Given the description of an element on the screen output the (x, y) to click on. 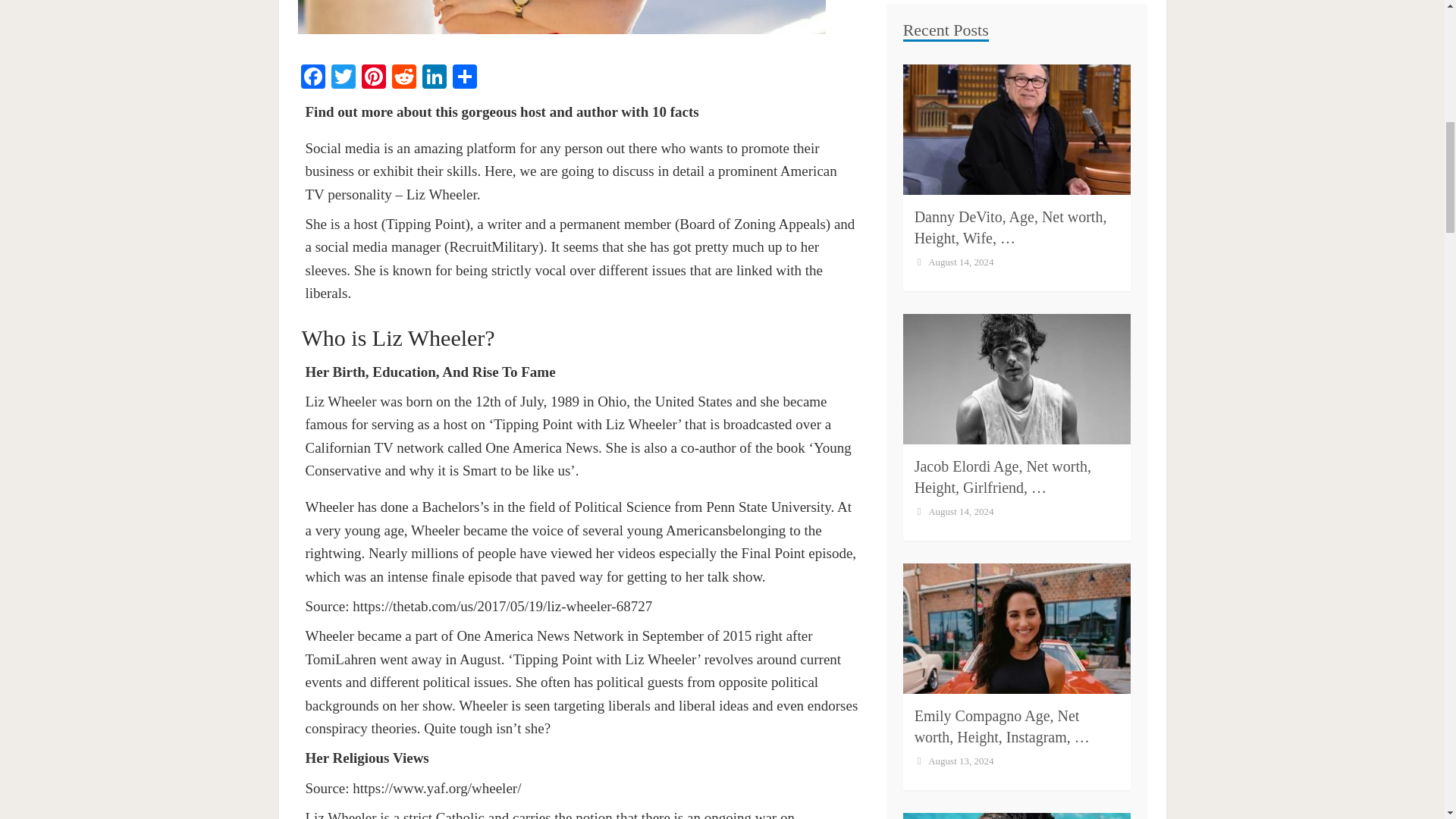
Reddit (403, 75)
Pinterest (373, 75)
Facebook (312, 75)
Twitter (342, 75)
LinkedIn (433, 75)
Reddit (403, 75)
Twitter (342, 75)
Facebook (312, 75)
Pinterest (373, 75)
LinkedIn (433, 75)
